Given the description of an element on the screen output the (x, y) to click on. 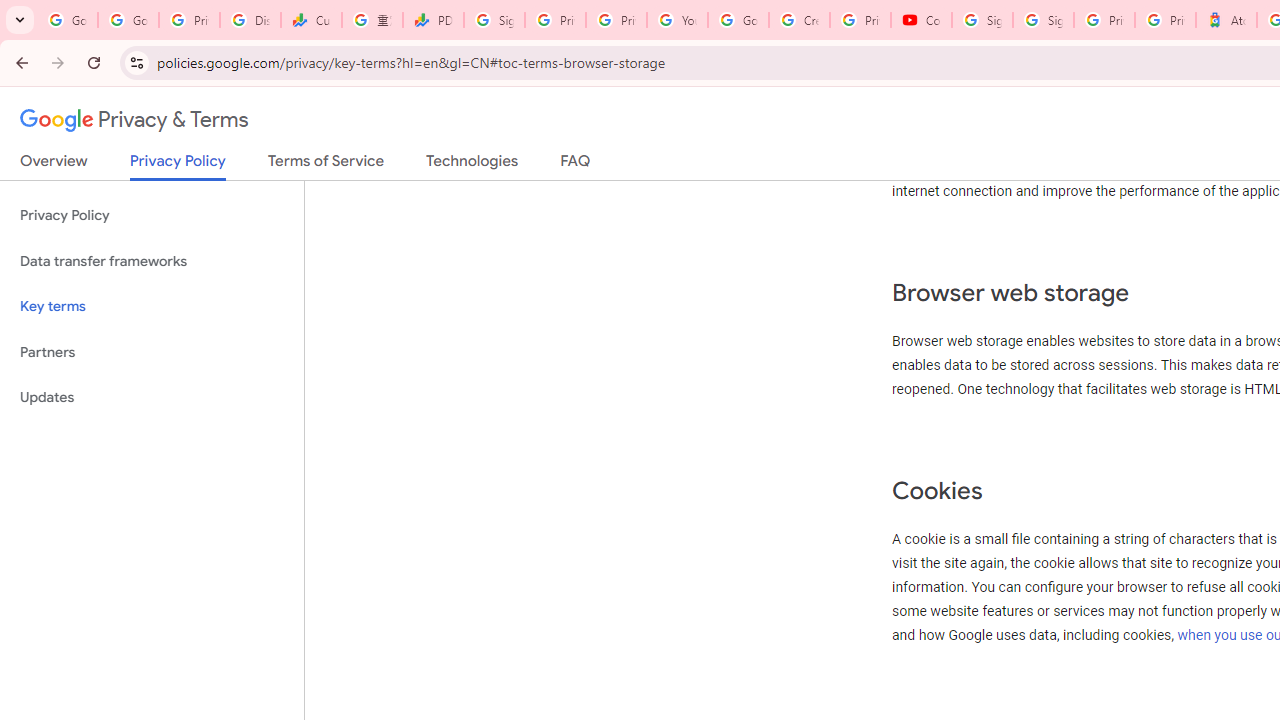
YouTube (676, 20)
Sign in - Google Accounts (1042, 20)
Content Creator Programs & Opportunities - YouTube Creators (921, 20)
